Given the description of an element on the screen output the (x, y) to click on. 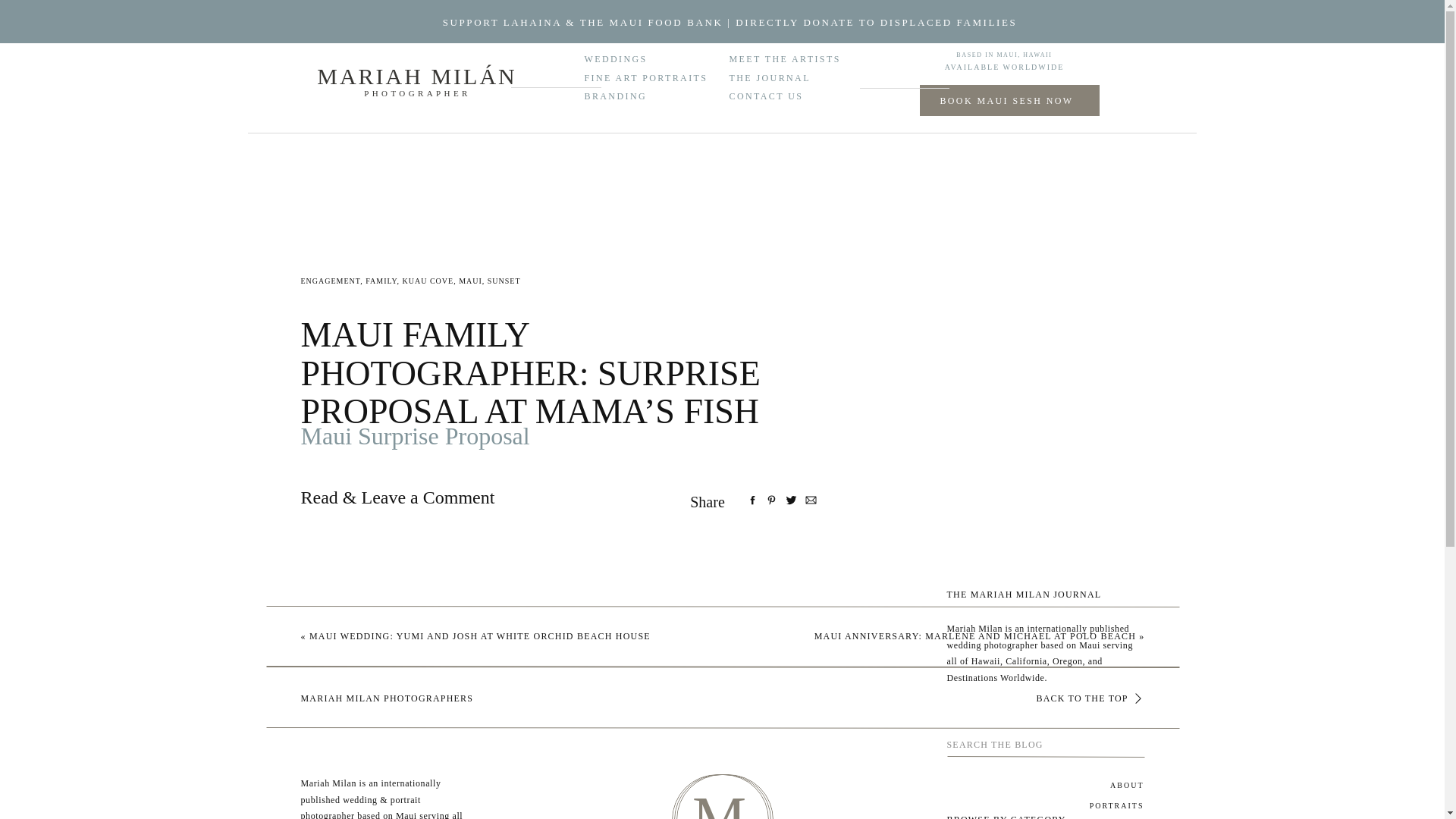
ENGAGEMENT (329, 280)
DIRECTLY DONATE TO DISPLACED FAMILIES (875, 21)
WEDDINGS (622, 57)
CONTACT US (778, 92)
SUNSET (504, 280)
MAUI (469, 280)
Photography by Mariah Milan (631, 632)
FINE ART PORTRAITS (657, 76)
PHOTOGRAPHER (417, 97)
MAUI WEDDING: YUMI AND JOSH AT WHITE ORCHID BEACH HOUSE (479, 635)
